Given the description of an element on the screen output the (x, y) to click on. 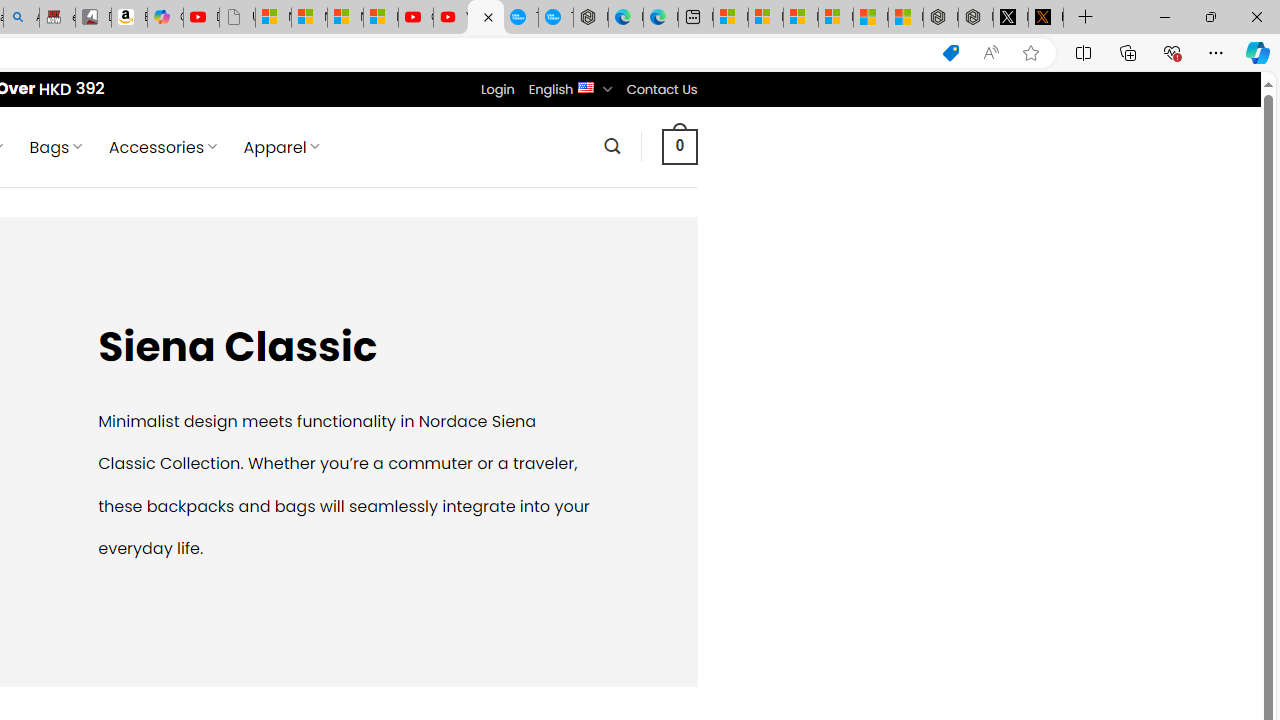
Copilot (165, 17)
Nordace - Siena Classic Collection (485, 17)
Login (497, 89)
Untitled (237, 17)
Login (497, 89)
Day 1: Arriving in Yemen (surreal to be here) - YouTube (201, 17)
Microsoft account | Privacy (835, 17)
YouTube Kids - An App Created for Kids to Explore Content (450, 17)
